Given the description of an element on the screen output the (x, y) to click on. 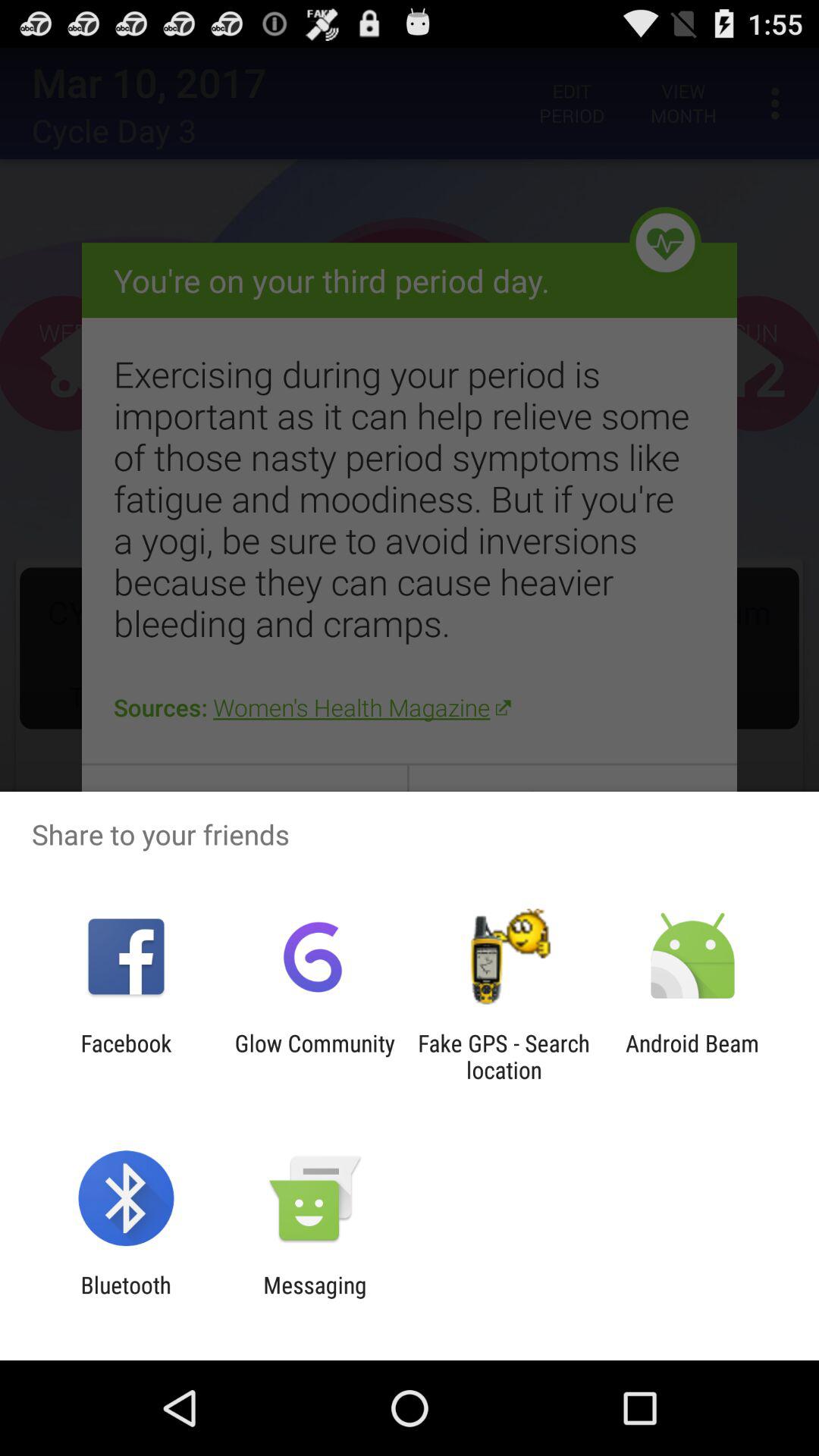
swipe to the facebook item (125, 1056)
